Given the description of an element on the screen output the (x, y) to click on. 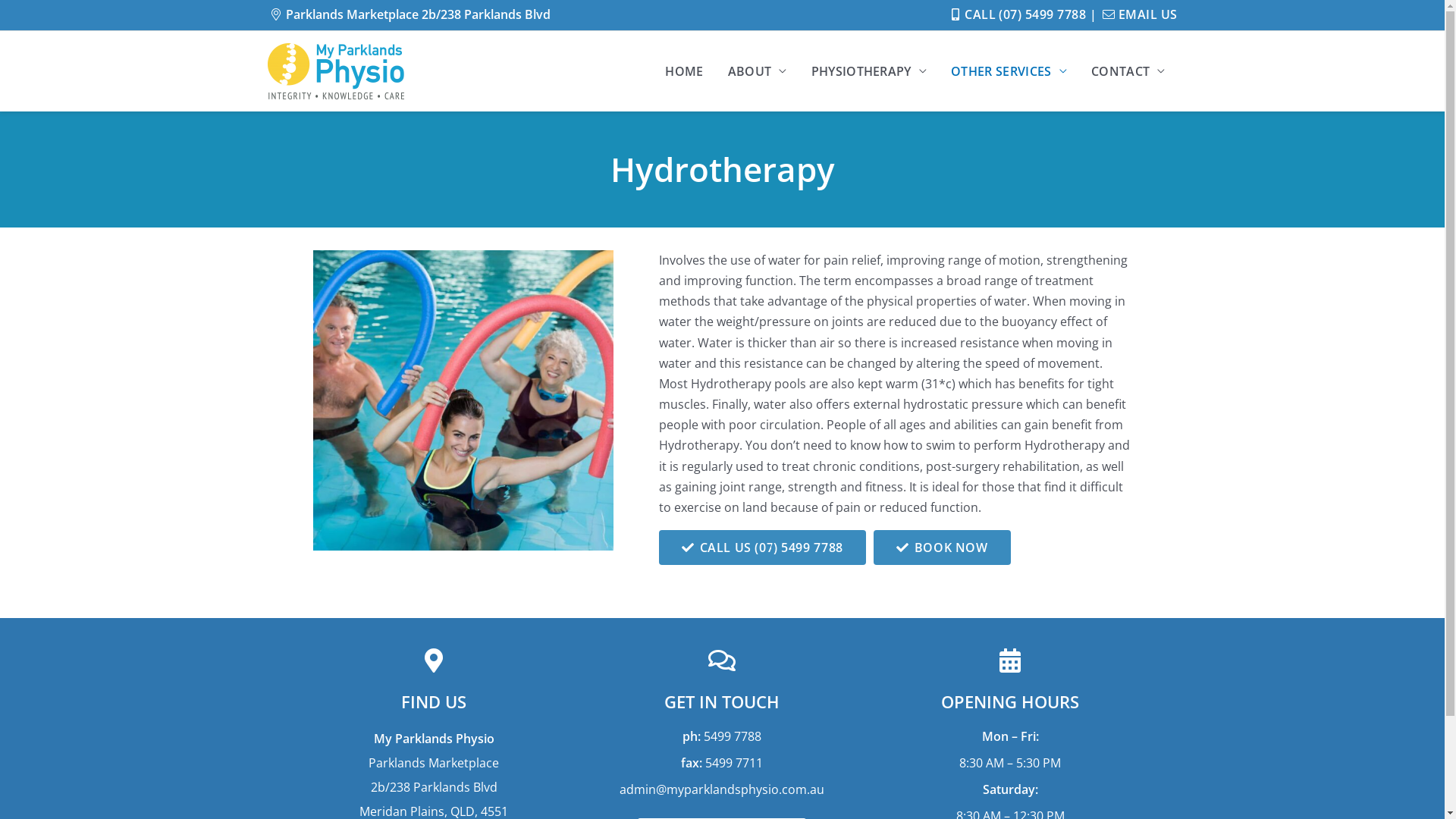
Hydrotherapy My Parklands Physio Element type: hover (462, 400)
CALL US (07) 5499 7788 Element type: text (761, 547)
EMAIL US Element type: text (1138, 14)
5499 7788 Element type: text (732, 736)
BOOK NOW Element type: text (941, 547)
CONTACT Element type: text (1128, 71)
HOME Element type: text (683, 71)
Parklands Marketplace 2b/238 Parklands Blvd Element type: text (407, 14)
ABOUT Element type: text (757, 71)
CALL (07) 5499 7788 Element type: text (1015, 14)
PHYSIOTHERAPY Element type: text (869, 71)
admin@myparklandsphysio.com.au Element type: text (721, 789)
OTHER SERVICES Element type: text (1008, 71)
5499 7711 Element type: text (733, 762)
